Given the description of an element on the screen output the (x, y) to click on. 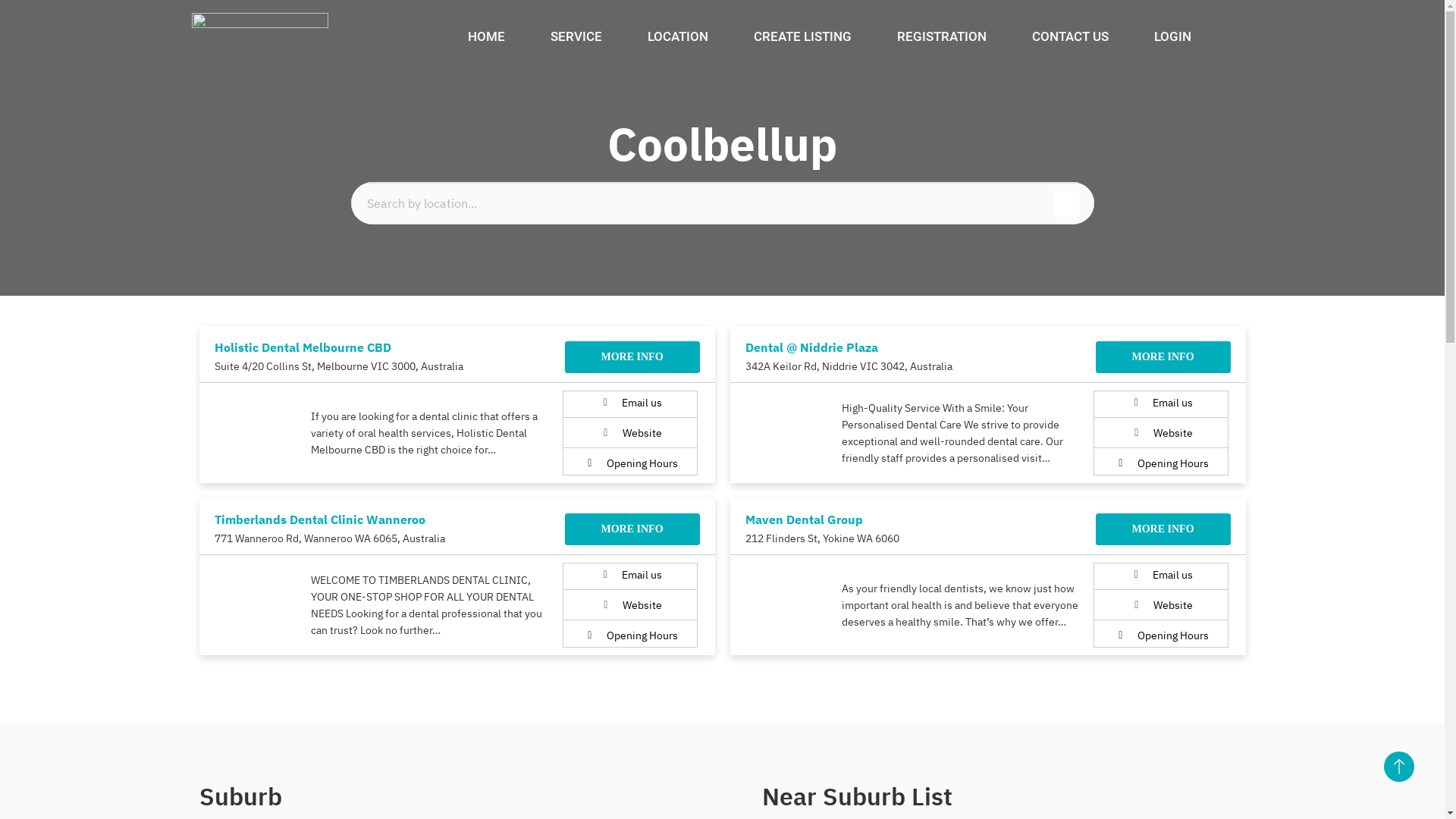
SERVICE Element type: text (575, 35)
LOCATION Element type: text (677, 35)
Opening Hours Element type: text (1160, 462)
serach Element type: text (1059, 200)
Dental @ Niddrie Plaza Element type: text (810, 346)
Opening Hours Element type: text (629, 462)
Maven Dental Group Element type: text (803, 519)
HOME Element type: text (485, 35)
CONTACT US Element type: text (1069, 35)
MORE INFO Element type: text (631, 357)
CREATE LISTING Element type: text (802, 35)
Opening Hours Element type: text (629, 635)
Timberlands Dental Clinic Wanneroo Element type: text (318, 519)
MORE INFO Element type: text (1162, 529)
REGISTRATION Element type: text (940, 35)
Opening Hours Element type: text (1160, 635)
LOGIN Element type: text (1172, 35)
MORE INFO Element type: text (631, 529)
Holistic Dental Melbourne CBD Element type: text (301, 346)
MORE INFO Element type: text (1162, 357)
